Given the description of an element on the screen output the (x, y) to click on. 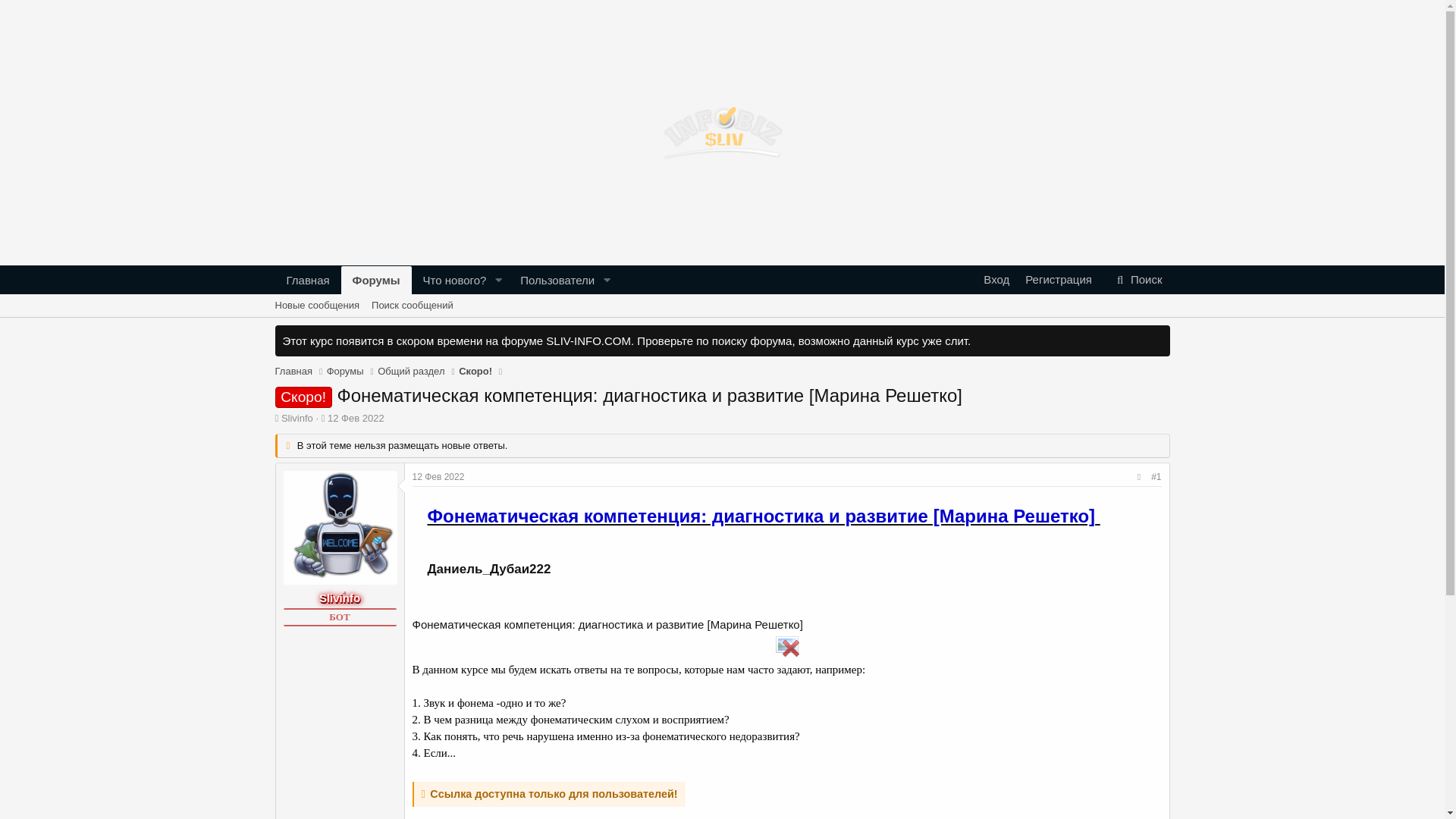
Slivinfo Element type: text (297, 417)
[IMG] Element type: hover (787, 646)
Slivinfo Element type: text (339, 597)
[IMG] Element type: hover (787, 644)
#1 Element type: text (1156, 476)
